Given the description of an element on the screen output the (x, y) to click on. 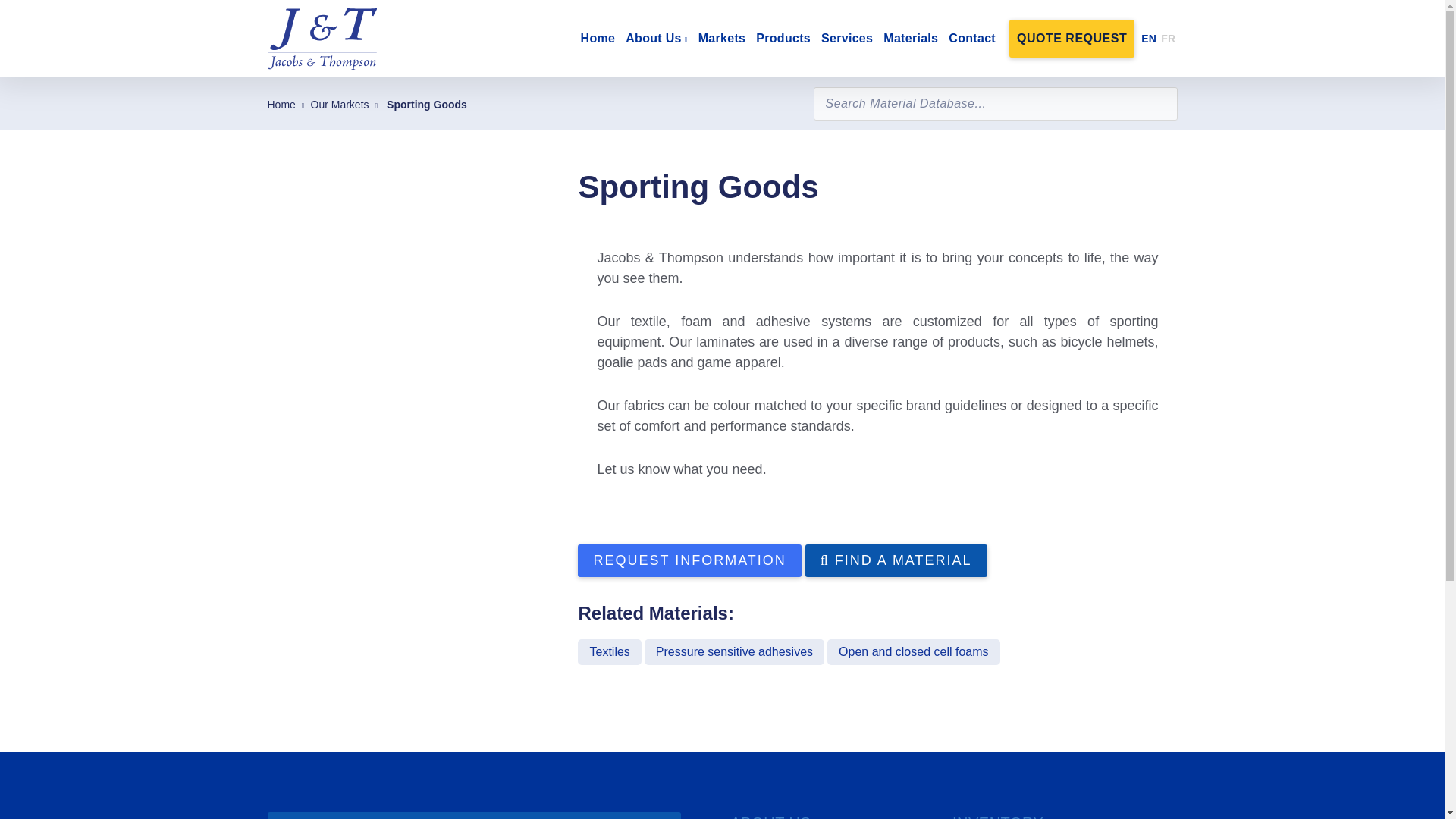
Materials (910, 38)
About Us (656, 38)
Our Markets (340, 104)
Open and closed cell foams (913, 651)
Home (598, 38)
Markets (722, 38)
Services (846, 38)
Textiles (608, 651)
Home (280, 104)
Products (783, 38)
